Given the description of an element on the screen output the (x, y) to click on. 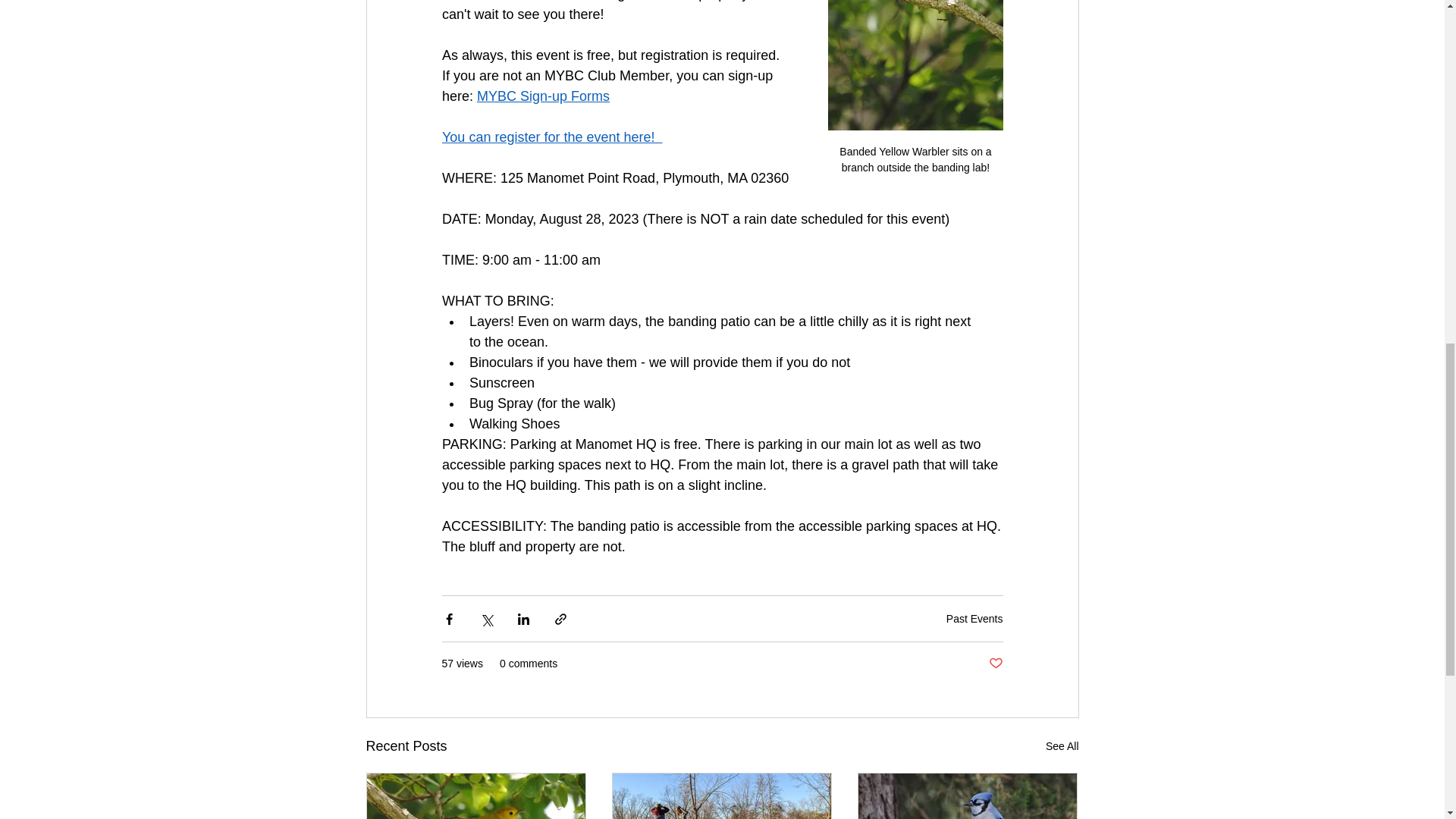
You can register for the event here!   (551, 136)
Past Events (974, 618)
MYBC Sign-up Forms (543, 96)
